Given the description of an element on the screen output the (x, y) to click on. 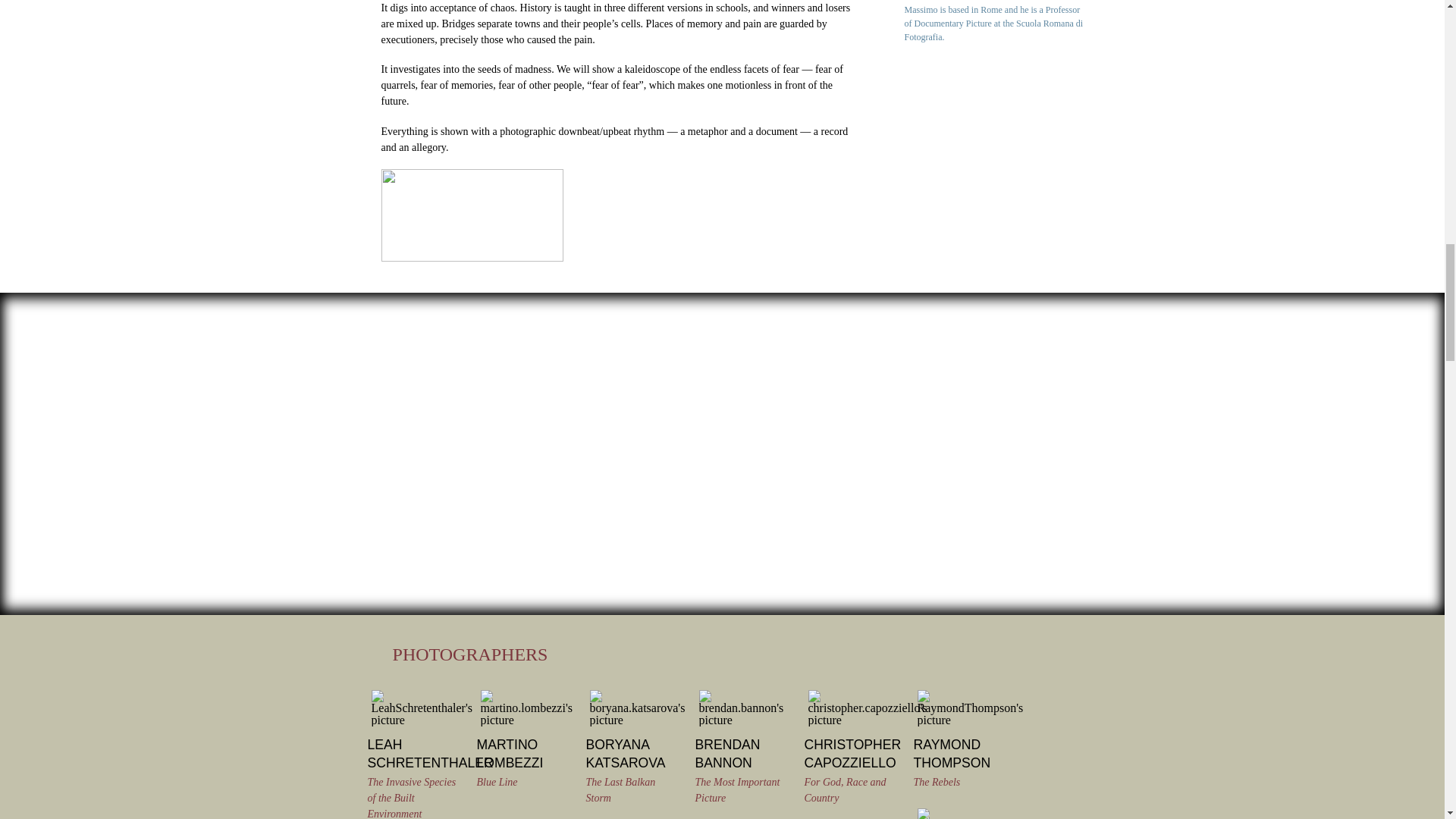
The Rebels (935, 781)
The Last Balkan Storm (620, 789)
Blue Line (496, 781)
The Invasive Species of the Built Environment (410, 797)
For God, Race and Country (844, 789)
The Most Important Picture (736, 789)
